Given the description of an element on the screen output the (x, y) to click on. 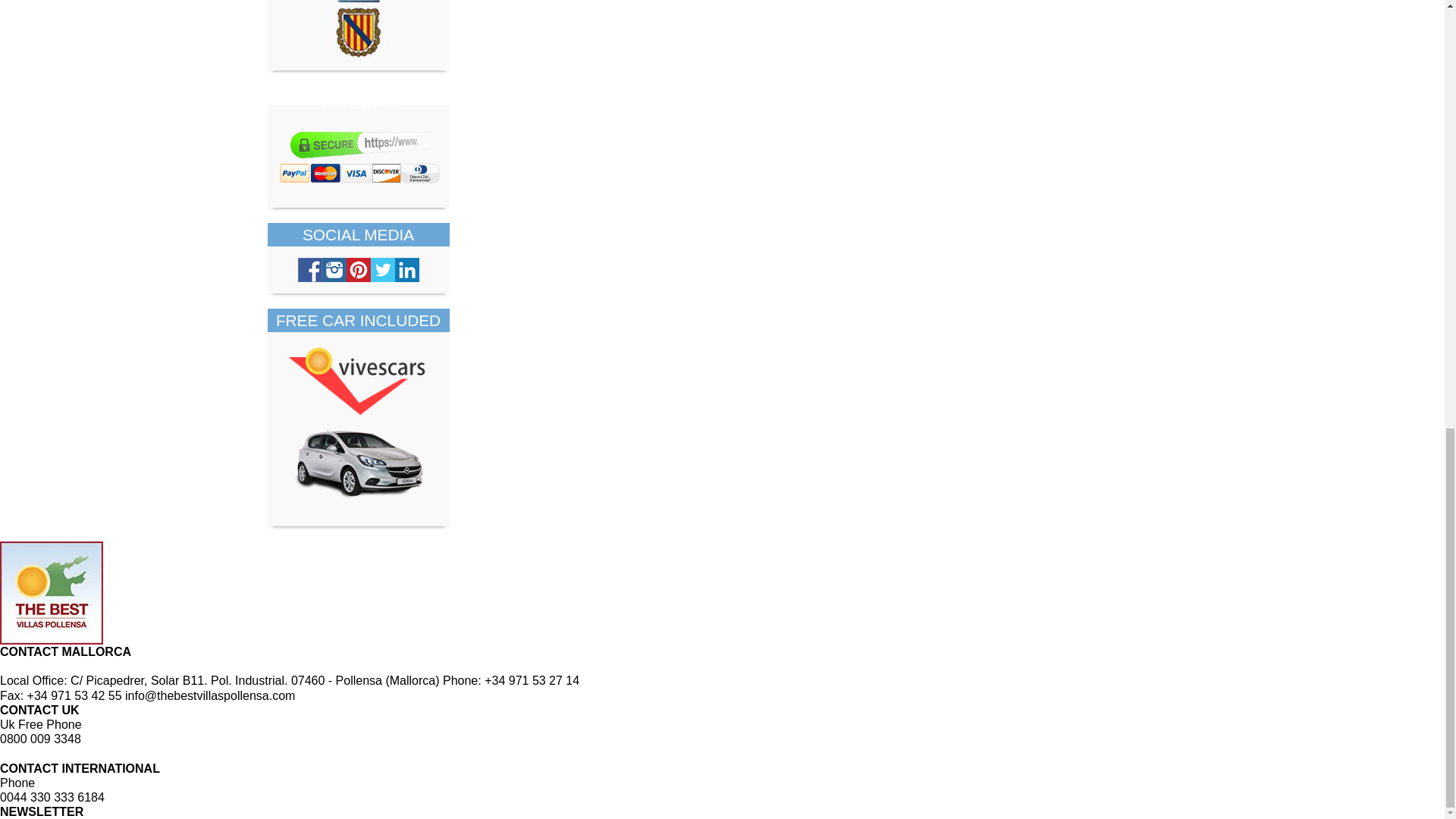
Follow on instagram (333, 269)
Follow on facebook (309, 269)
